Given the description of an element on the screen output the (x, y) to click on. 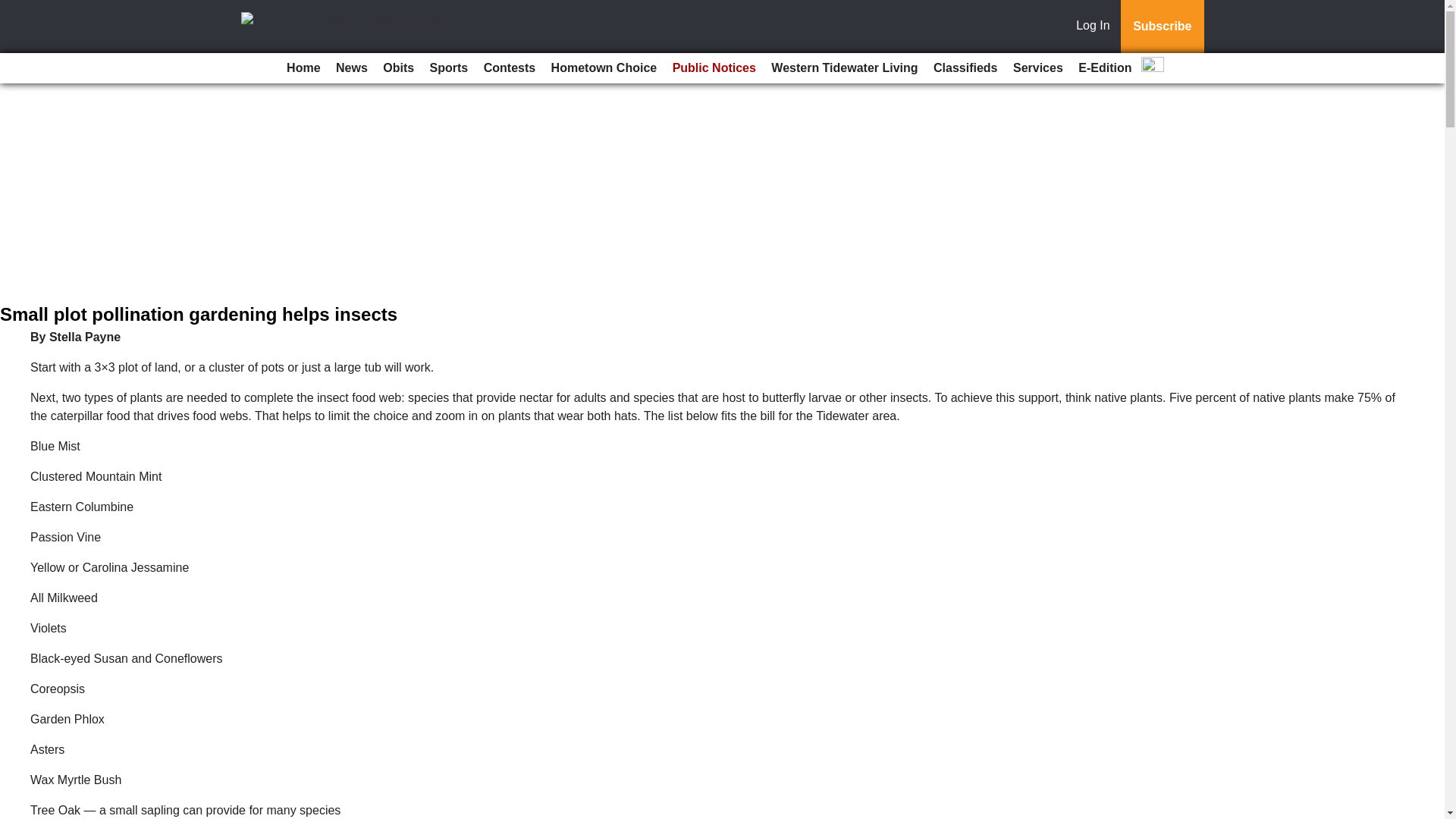
E-Edition (1104, 68)
Obits (398, 68)
Log In (1095, 26)
Subscribe (1162, 26)
Public Notices (713, 68)
Contests (509, 68)
News (352, 68)
Home (303, 68)
Classifieds (965, 68)
Go (13, 9)
